Given the description of an element on the screen output the (x, y) to click on. 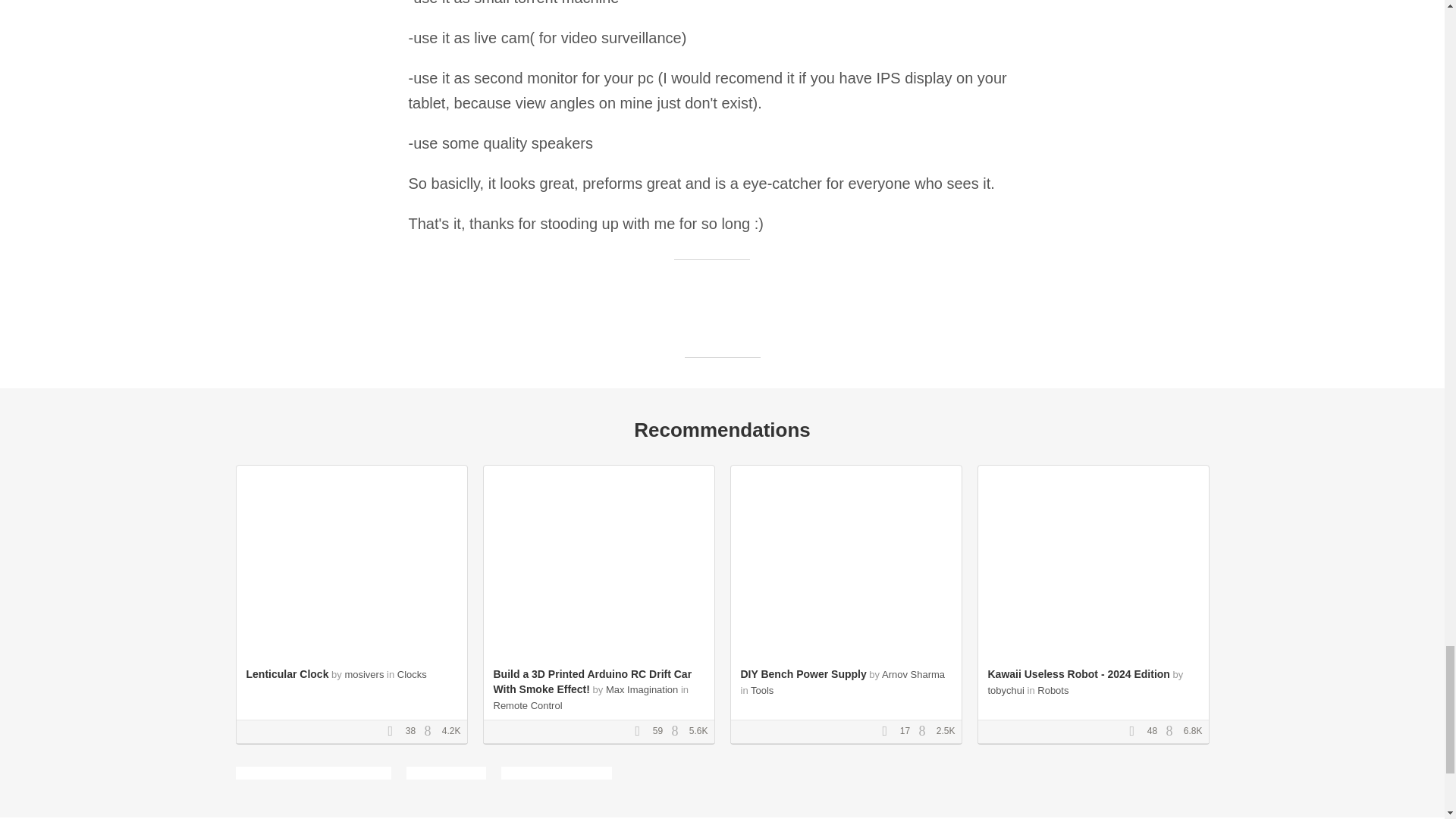
Views Count (678, 731)
Views Count (925, 731)
Views Count (431, 731)
Views Count (1173, 731)
Arnov Sharma (913, 674)
Clocks (411, 674)
Favorites Count (395, 731)
Kawaii Useless Robot - 2024 Edition (1078, 674)
Tools (762, 690)
tobychui (1005, 690)
DIY Bench Power Supply (802, 674)
Robots (1052, 690)
Remote Control (527, 705)
mosivers (363, 674)
Max Imagination (641, 689)
